Given the description of an element on the screen output the (x, y) to click on. 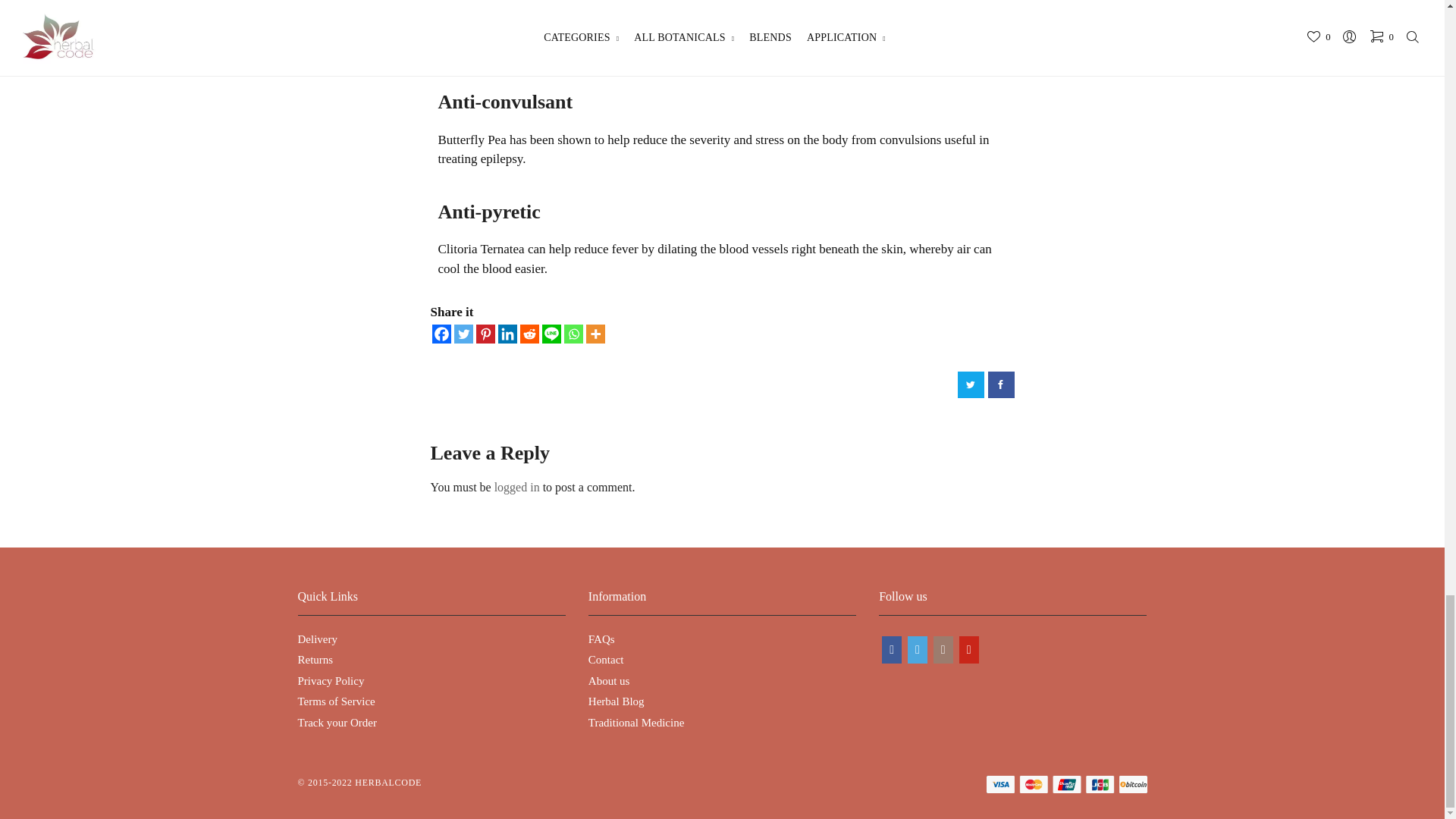
Pinterest (485, 333)
Facebook (441, 333)
Line (550, 333)
Whatsapp (573, 333)
Linkedin (506, 333)
More (594, 333)
Reddit (528, 333)
Twitter (461, 333)
